Given the description of an element on the screen output the (x, y) to click on. 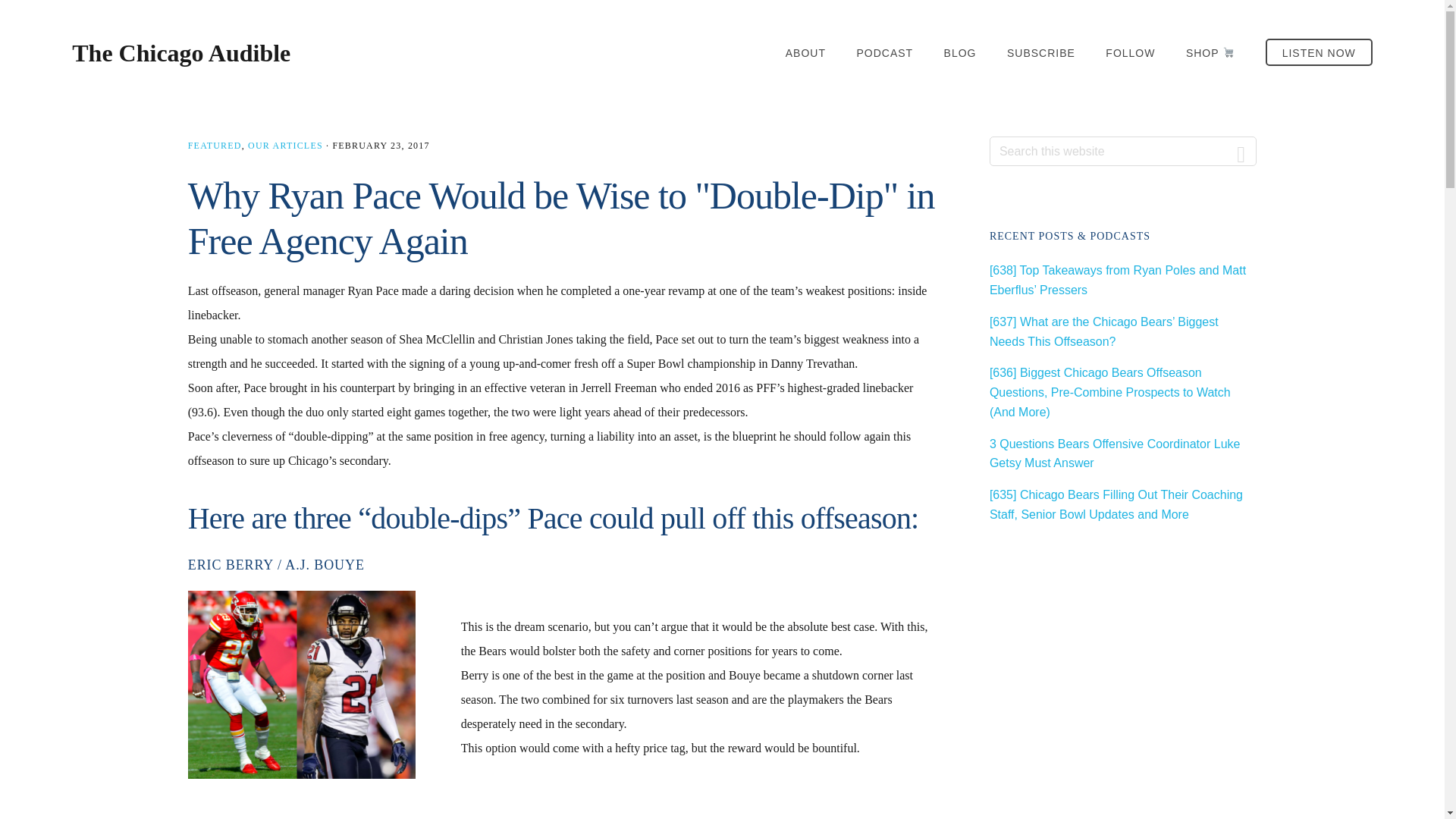
Search (1240, 151)
ABOUT (805, 53)
The Chicago Audible (180, 52)
Search (1240, 151)
SUBSCRIBE (1041, 53)
FEATURED (214, 145)
LISTEN NOW (1319, 52)
BLOG (959, 53)
SHOP (1210, 53)
PODCAST (884, 53)
OUR ARTICLES (285, 145)
FOLLOW (1129, 53)
